Given the description of an element on the screen output the (x, y) to click on. 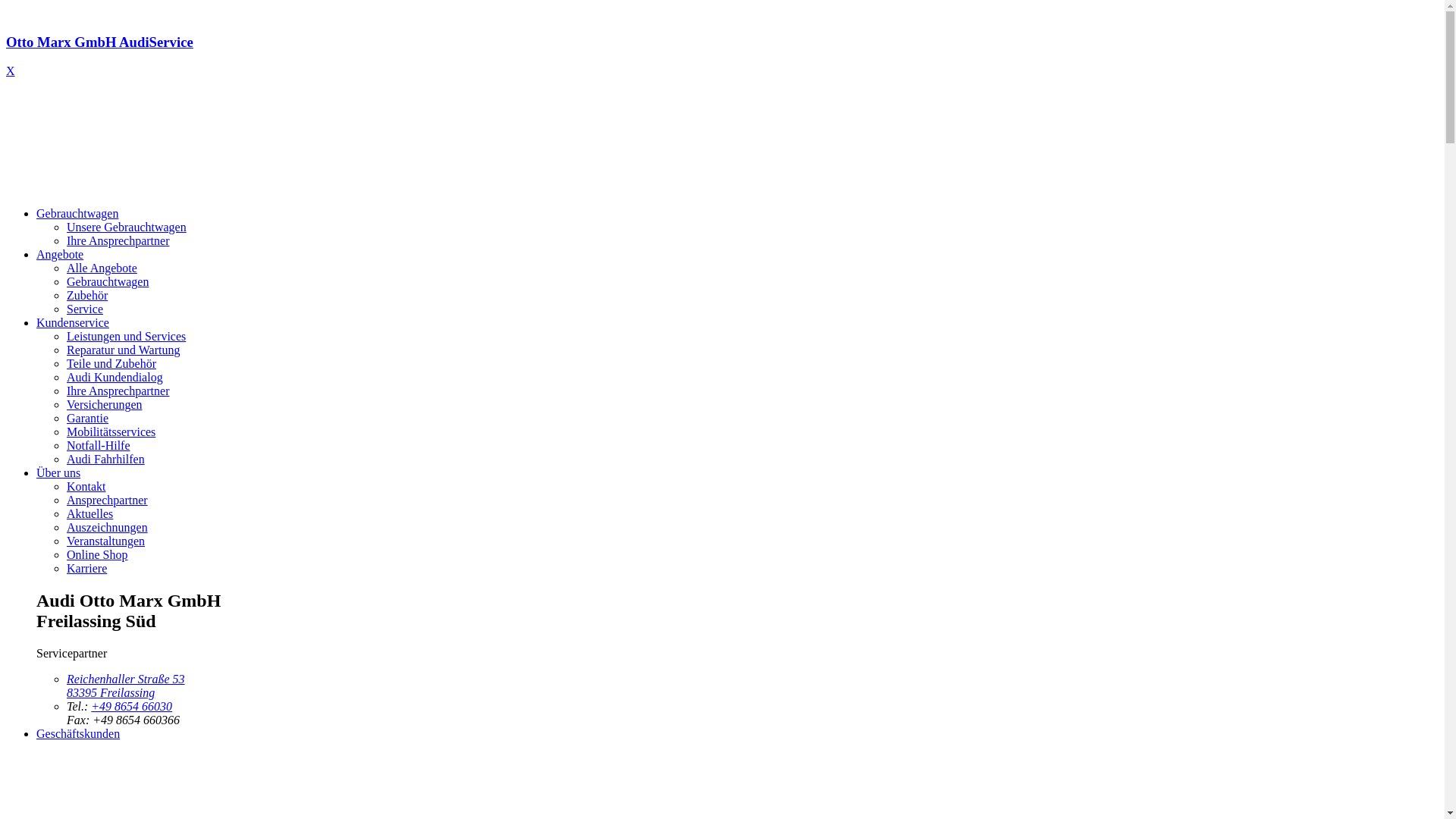
Aktuelles Element type: text (89, 513)
Unsere Gebrauchtwagen Element type: text (126, 226)
Online Shop Element type: text (96, 554)
Reparatur und Wartung Element type: text (122, 349)
Auszeichnungen Element type: text (106, 526)
+49 8654 66030 Element type: text (131, 705)
Garantie Element type: text (87, 417)
Notfall-Hilfe Element type: text (98, 445)
Audi Fahrhilfen Element type: text (105, 458)
Alle Angebote Element type: text (101, 267)
Service Element type: text (84, 308)
Kundenservice Element type: text (72, 322)
Ansprechpartner Element type: text (106, 499)
Gebrauchtwagen Element type: text (107, 281)
Angebote Element type: text (59, 253)
Otto Marx GmbH AudiService Element type: text (722, 56)
Ihre Ansprechpartner Element type: text (117, 390)
Leistungen und Services Element type: text (125, 335)
Audi Kundendialog Element type: text (114, 376)
Kontakt Element type: text (86, 486)
Karriere Element type: text (86, 567)
Gebrauchtwagen Element type: text (77, 213)
Ihre Ansprechpartner Element type: text (117, 240)
Versicherungen Element type: text (104, 404)
Veranstaltungen Element type: text (105, 540)
X Element type: text (10, 70)
